Given the description of an element on the screen output the (x, y) to click on. 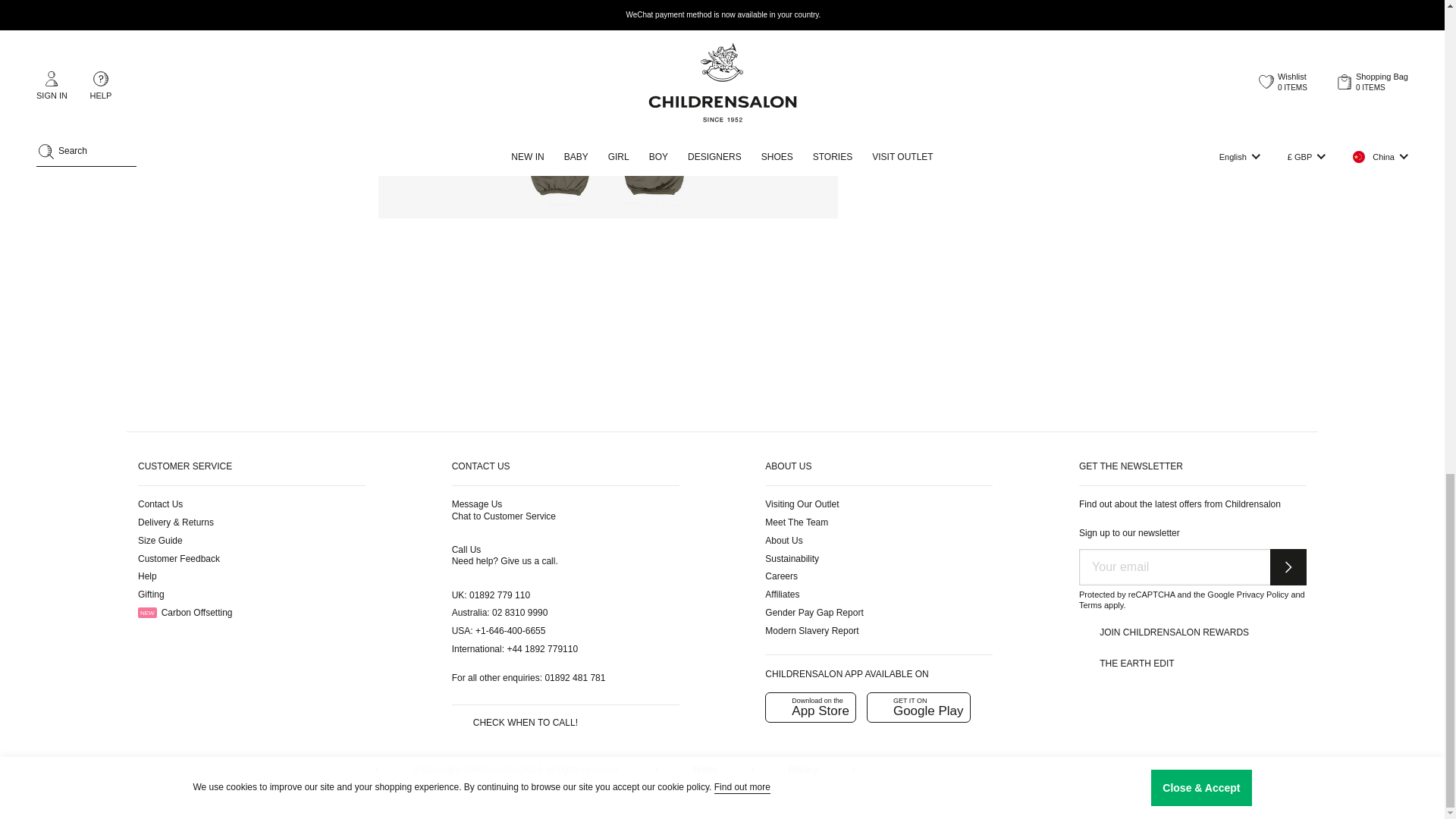
Facebook (146, 774)
Gifting (151, 593)
TikTok (332, 774)
Twitter (183, 774)
Size Guide (160, 540)
Contact Us (160, 503)
Snowwear (964, 85)
Instagram (220, 774)
Help (147, 575)
Pinterest (258, 774)
